Given the description of an element on the screen output the (x, y) to click on. 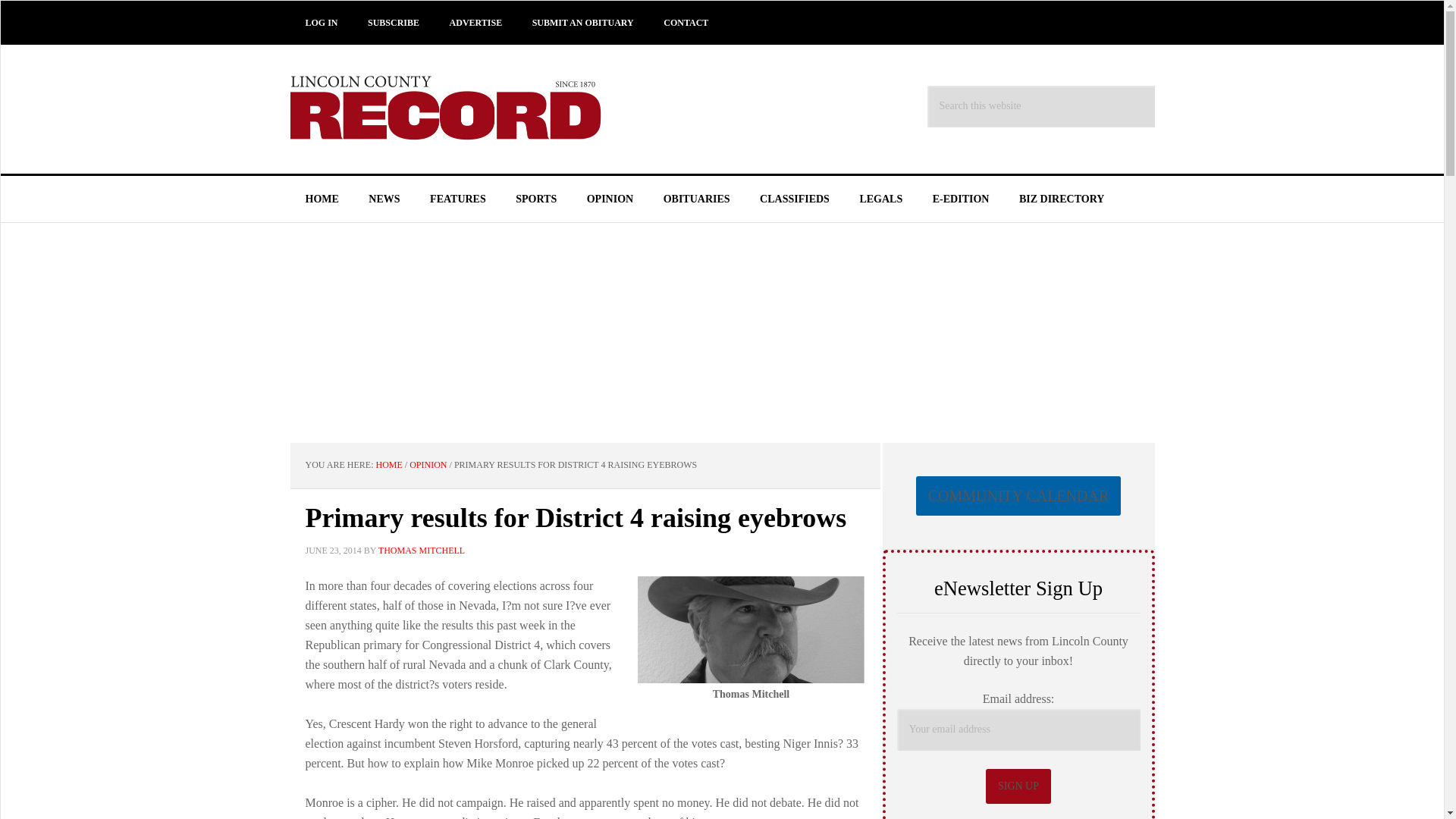
CONTACT (685, 22)
LINCOLN COUNTY RECORD (456, 109)
Sign up (1018, 786)
CLASSIFIEDS (794, 198)
FEATURES (457, 198)
SUBMIT AN OBITUARY (582, 22)
LOG IN (320, 22)
SUBSCRIBE (392, 22)
LEGALS (880, 198)
HOME (321, 198)
HOME (389, 464)
SPORTS (536, 198)
E-EDITION (960, 198)
OPINION (427, 464)
